Given the description of an element on the screen output the (x, y) to click on. 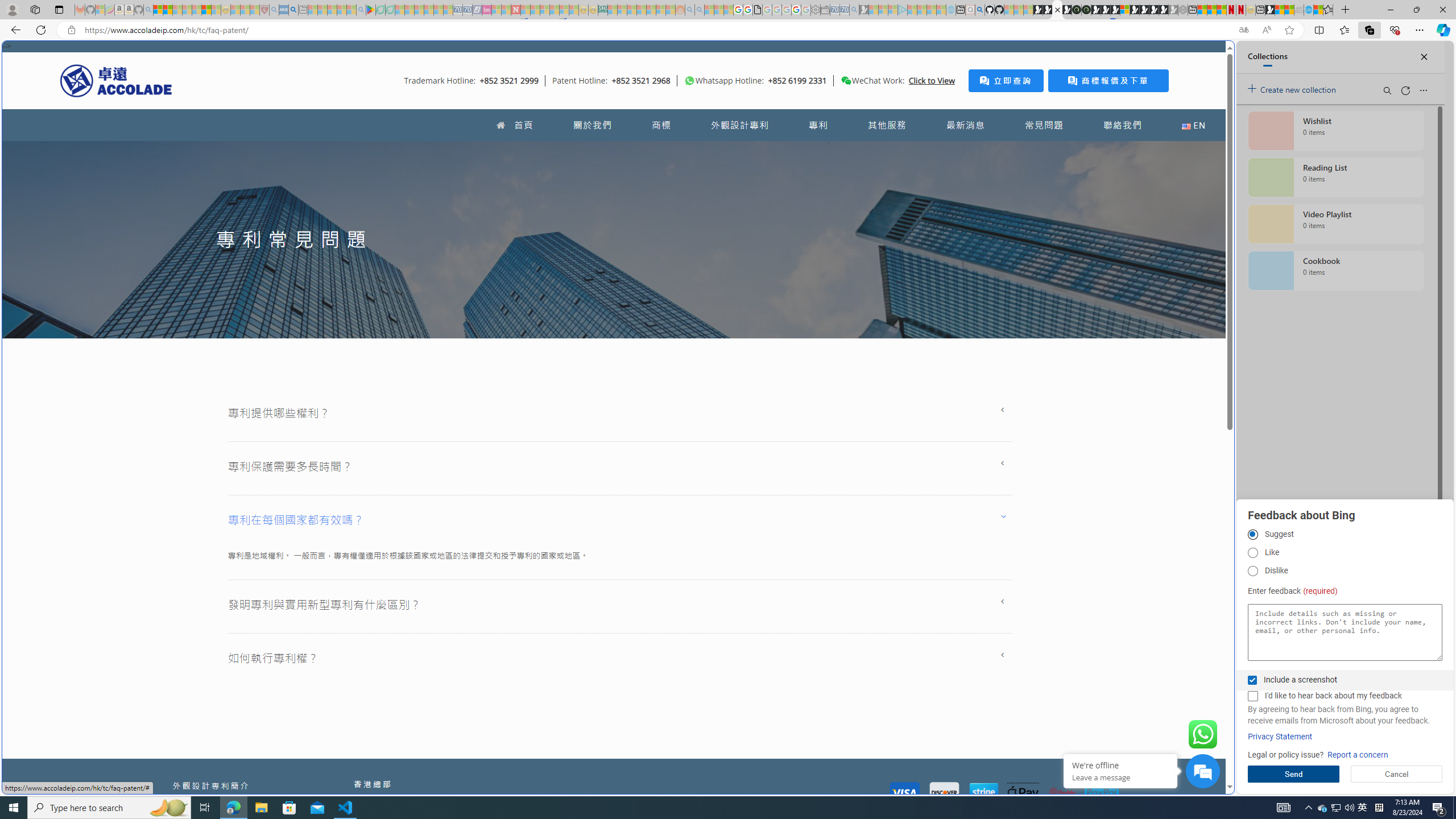
Search or enter web address (922, 108)
github - Search (979, 9)
Like (1252, 552)
